Given the description of an element on the screen output the (x, y) to click on. 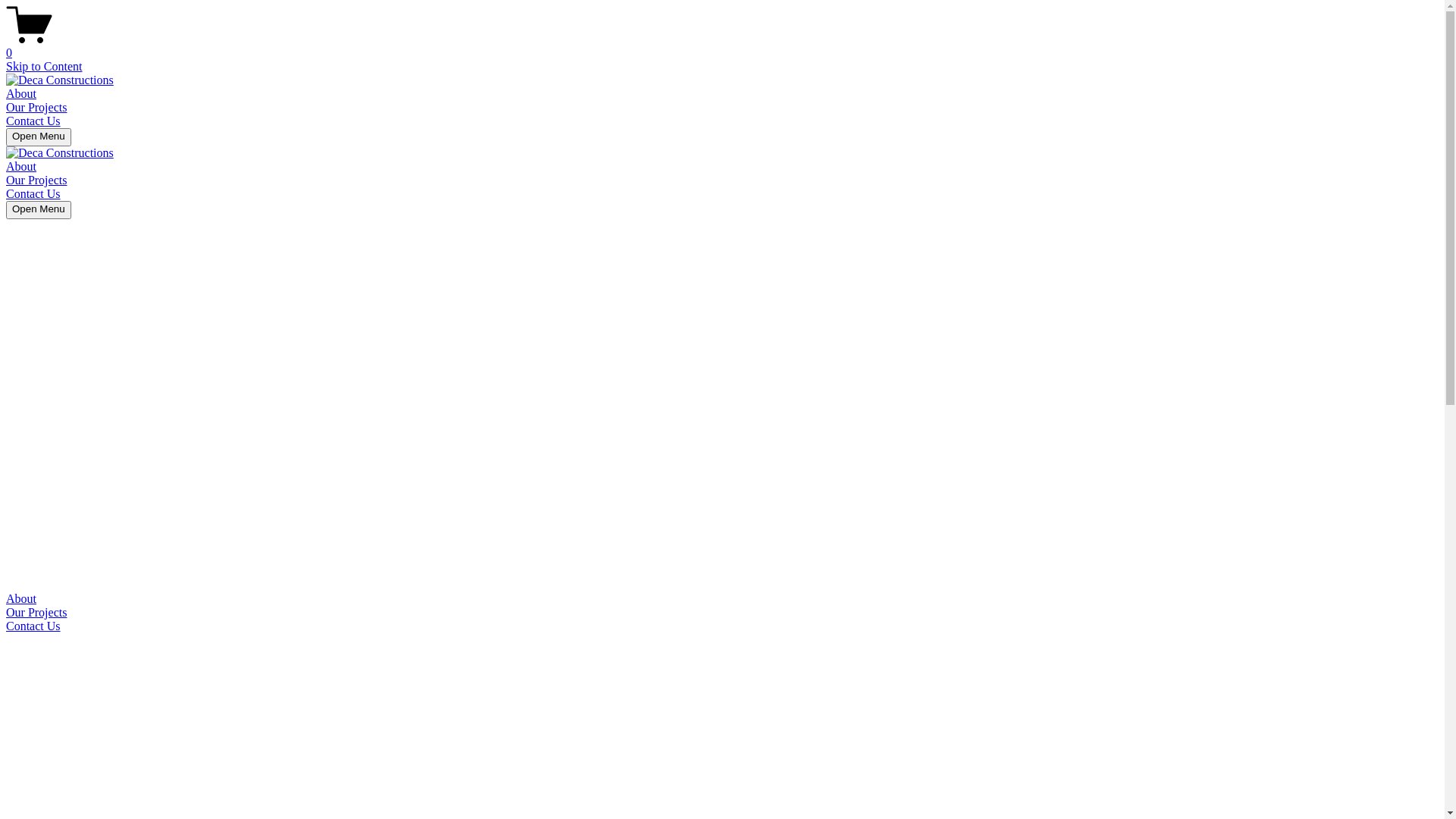
About Element type: text (21, 93)
About Element type: text (21, 166)
Contact Us Element type: text (722, 626)
Contact Us Element type: text (33, 193)
Open Menu Element type: text (38, 209)
Our Projects Element type: text (36, 106)
0 Element type: text (722, 45)
About Element type: text (722, 598)
Skip to Content Element type: text (43, 65)
Our Projects Element type: text (36, 179)
Our Projects Element type: text (722, 612)
Contact Us Element type: text (33, 120)
Open Menu Element type: text (38, 137)
